Given the description of an element on the screen output the (x, y) to click on. 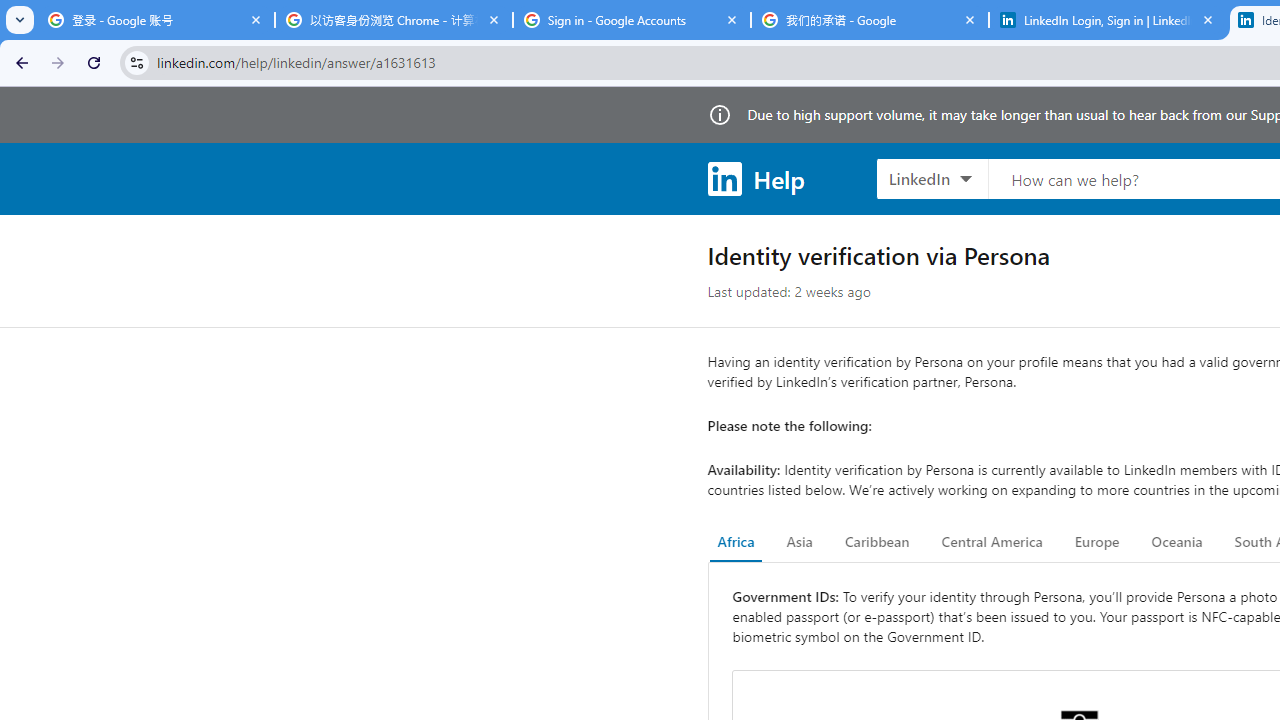
Central America (991, 542)
Europe (1096, 542)
LinkedIn Login, Sign in | LinkedIn (1108, 20)
LinkedIn products to search, LinkedIn selected (932, 178)
